Given the description of an element on the screen output the (x, y) to click on. 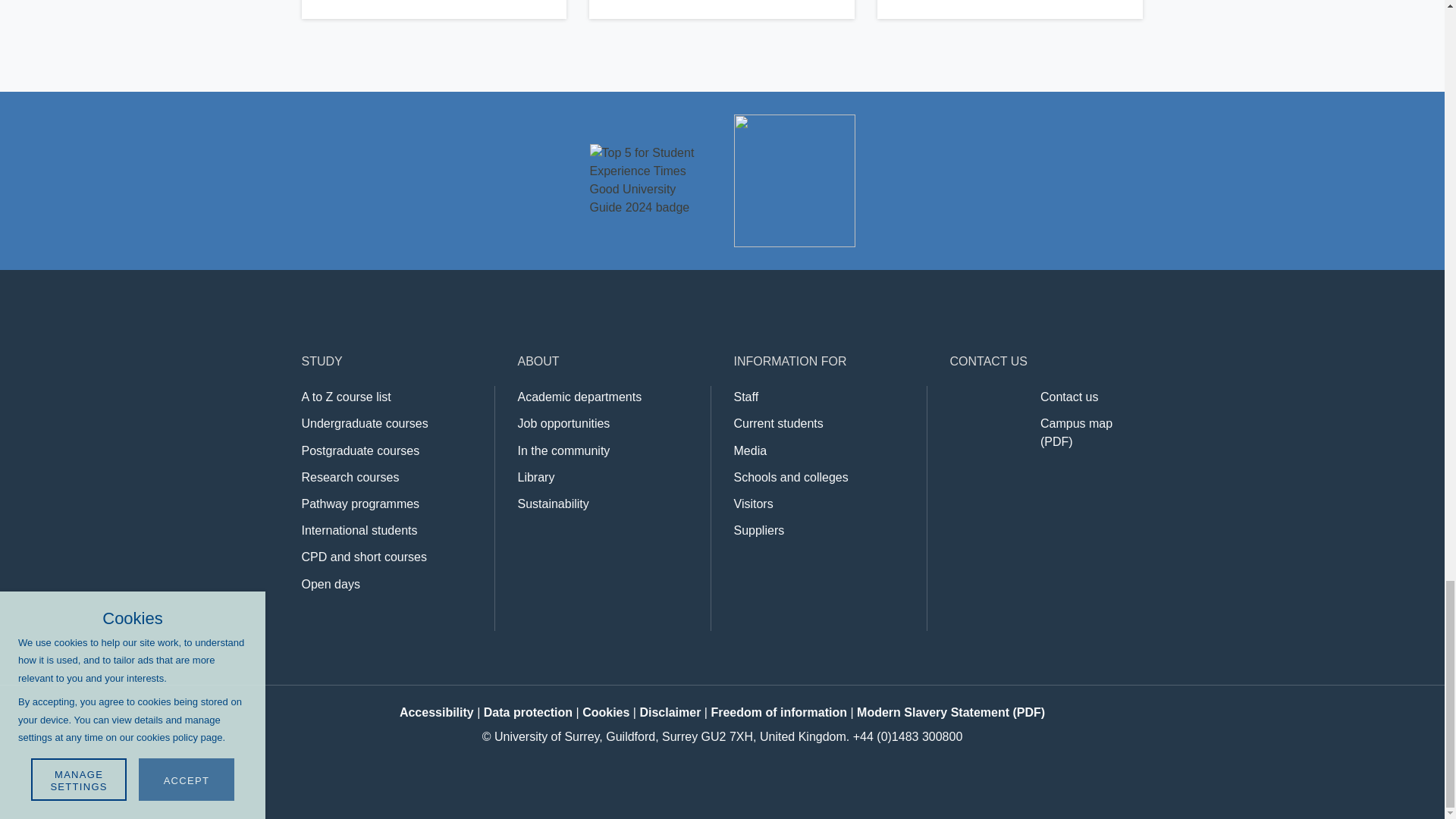
University of Surrey campus map (1076, 431)
Modern slavery statement (951, 712)
